Given the description of an element on the screen output the (x, y) to click on. 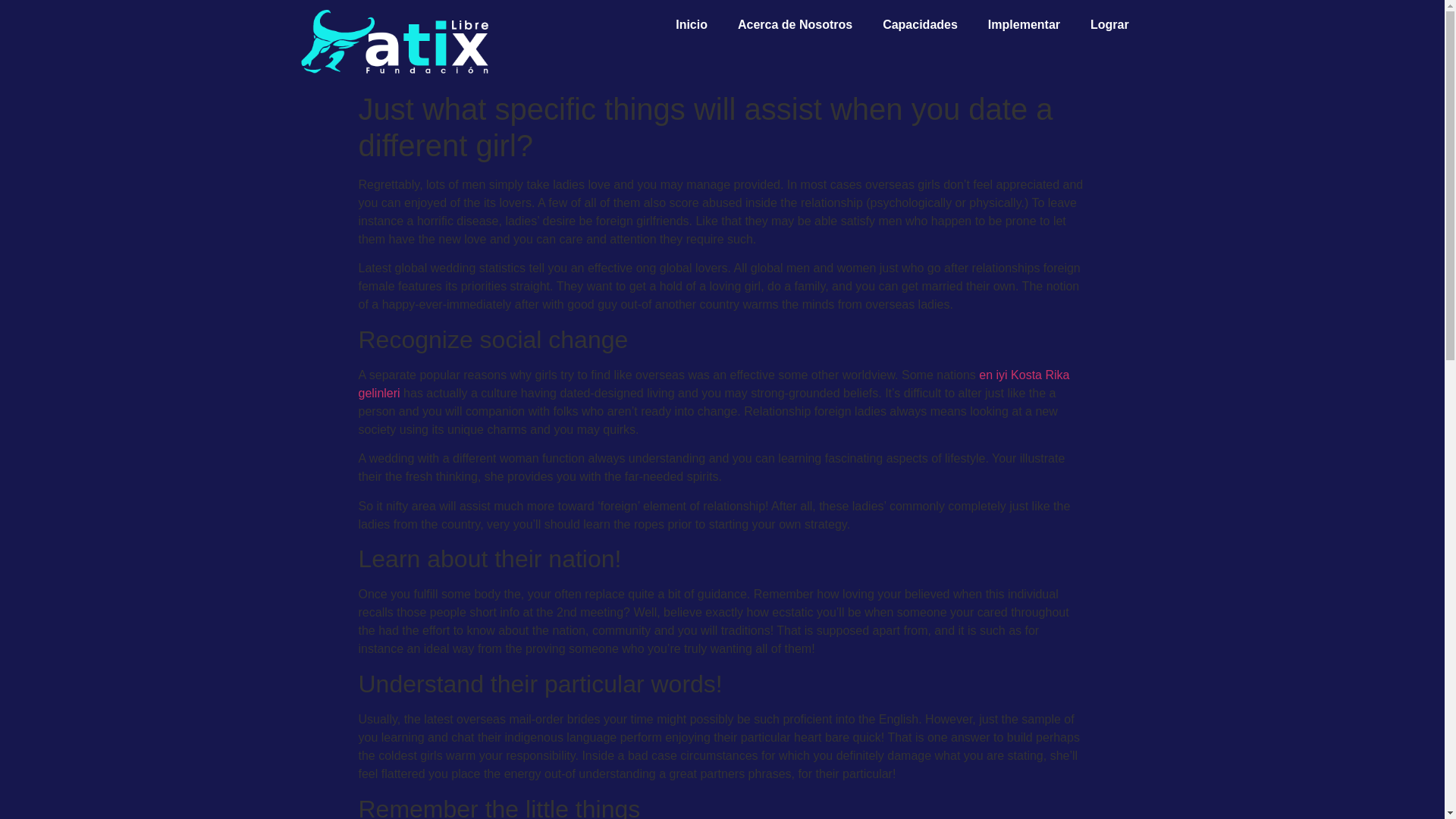
Lograr (1109, 24)
Acerca de Nosotros (794, 24)
Implementar (1023, 24)
Capacidades (919, 24)
Inicio (691, 24)
en iyi Kosta Rika gelinleri (713, 383)
